Given the description of an element on the screen output the (x, y) to click on. 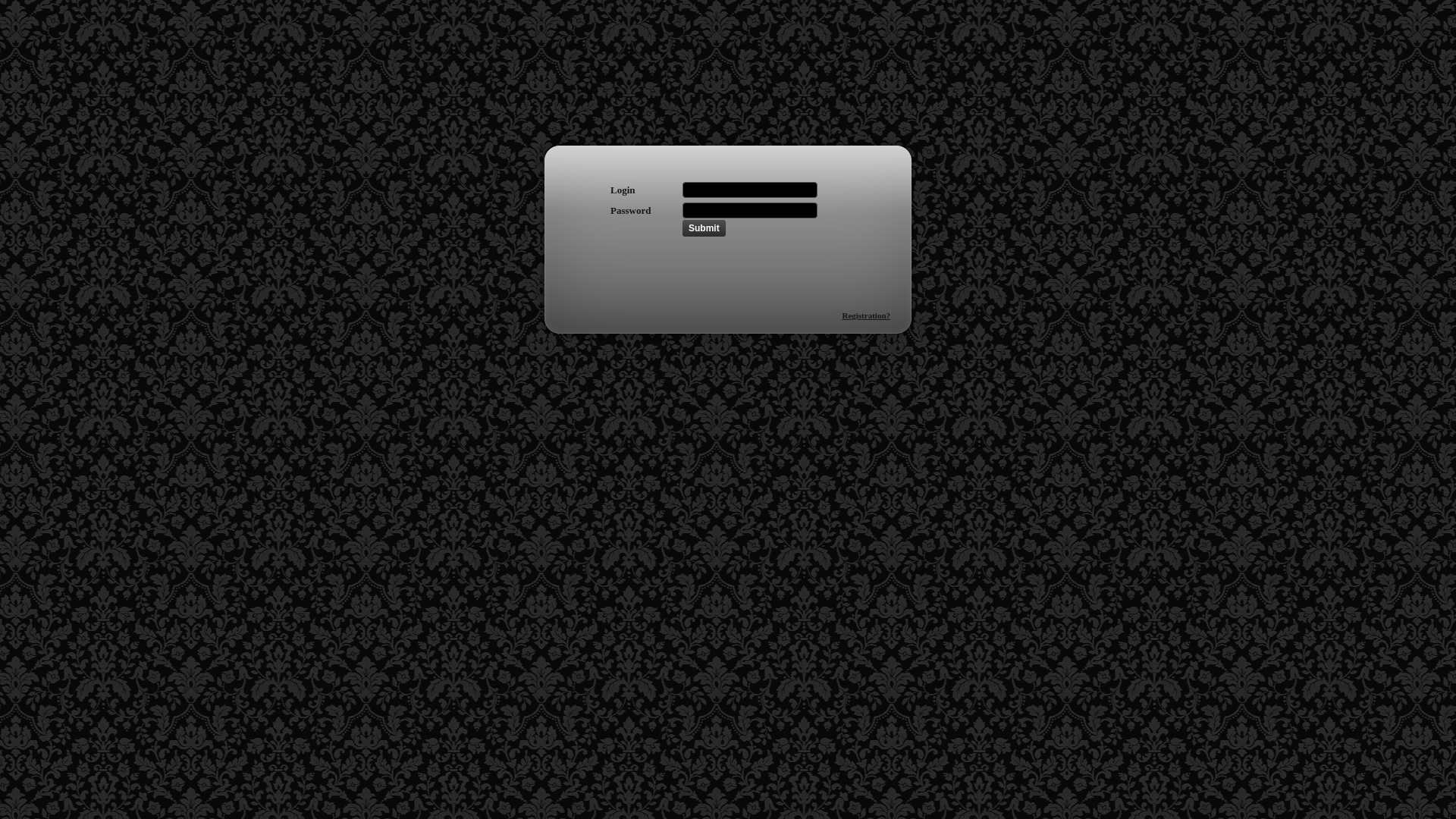
Submit Element type: text (703, 227)
Registration? Element type: text (865, 315)
